Given the description of an element on the screen output the (x, y) to click on. 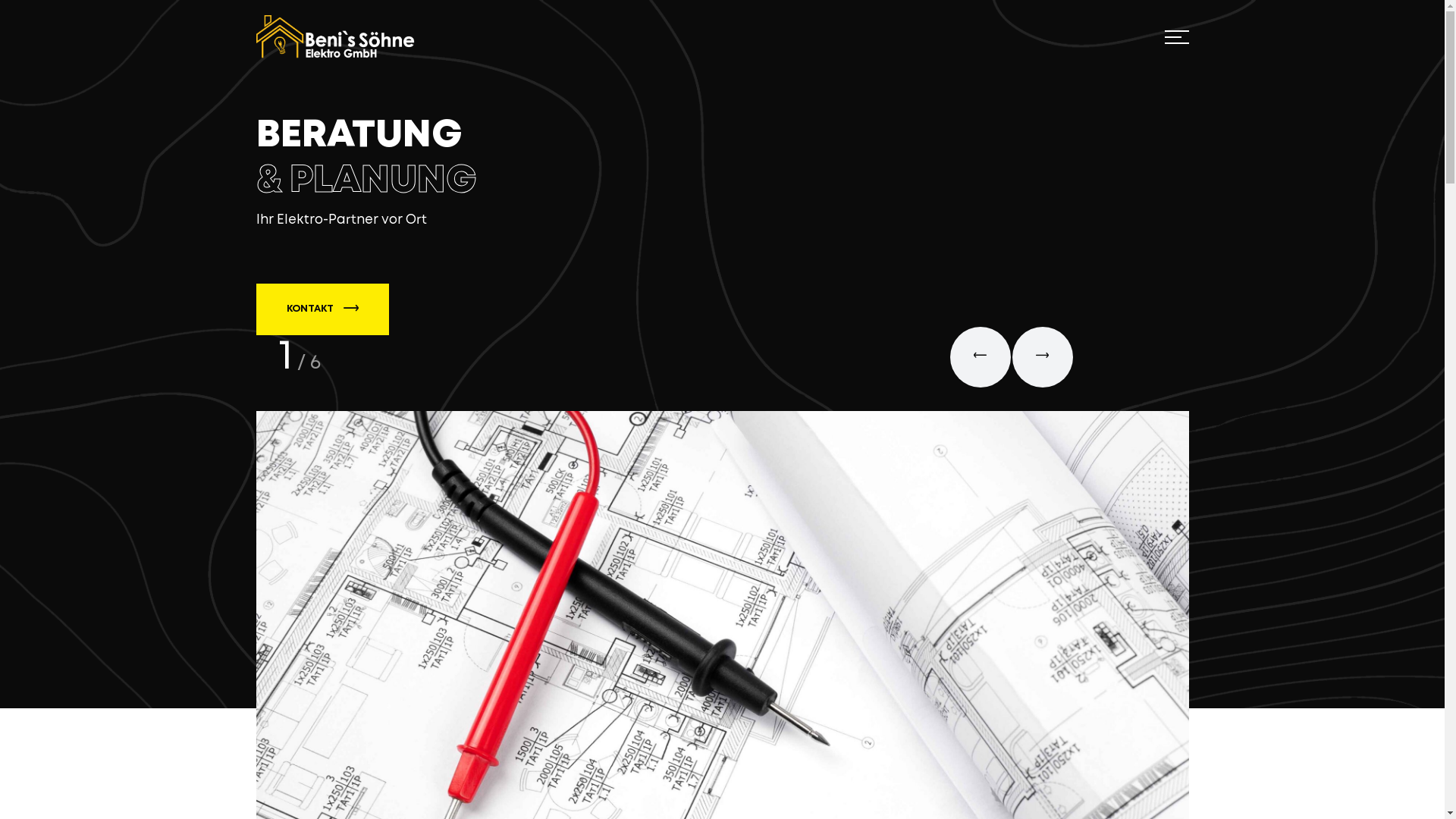
SEARCH Element type: text (722, 446)
KONTAKT Element type: text (322, 309)
